Given the description of an element on the screen output the (x, y) to click on. 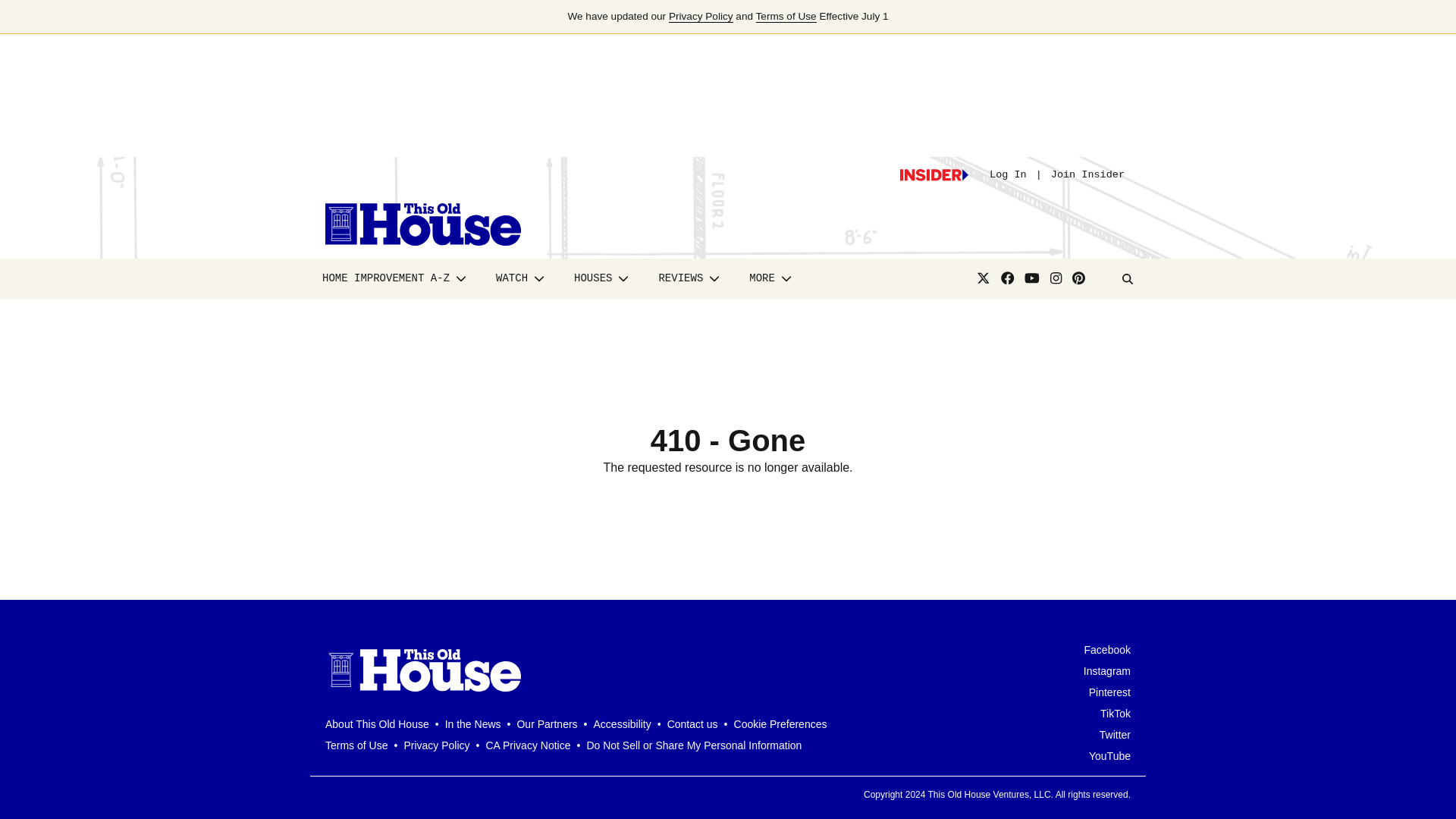
Privacy Policy (700, 16)
Log in or sign up (933, 174)
Log In (1008, 174)
Join Insider (1087, 174)
Terms of Use (785, 16)
